Given the description of an element on the screen output the (x, y) to click on. 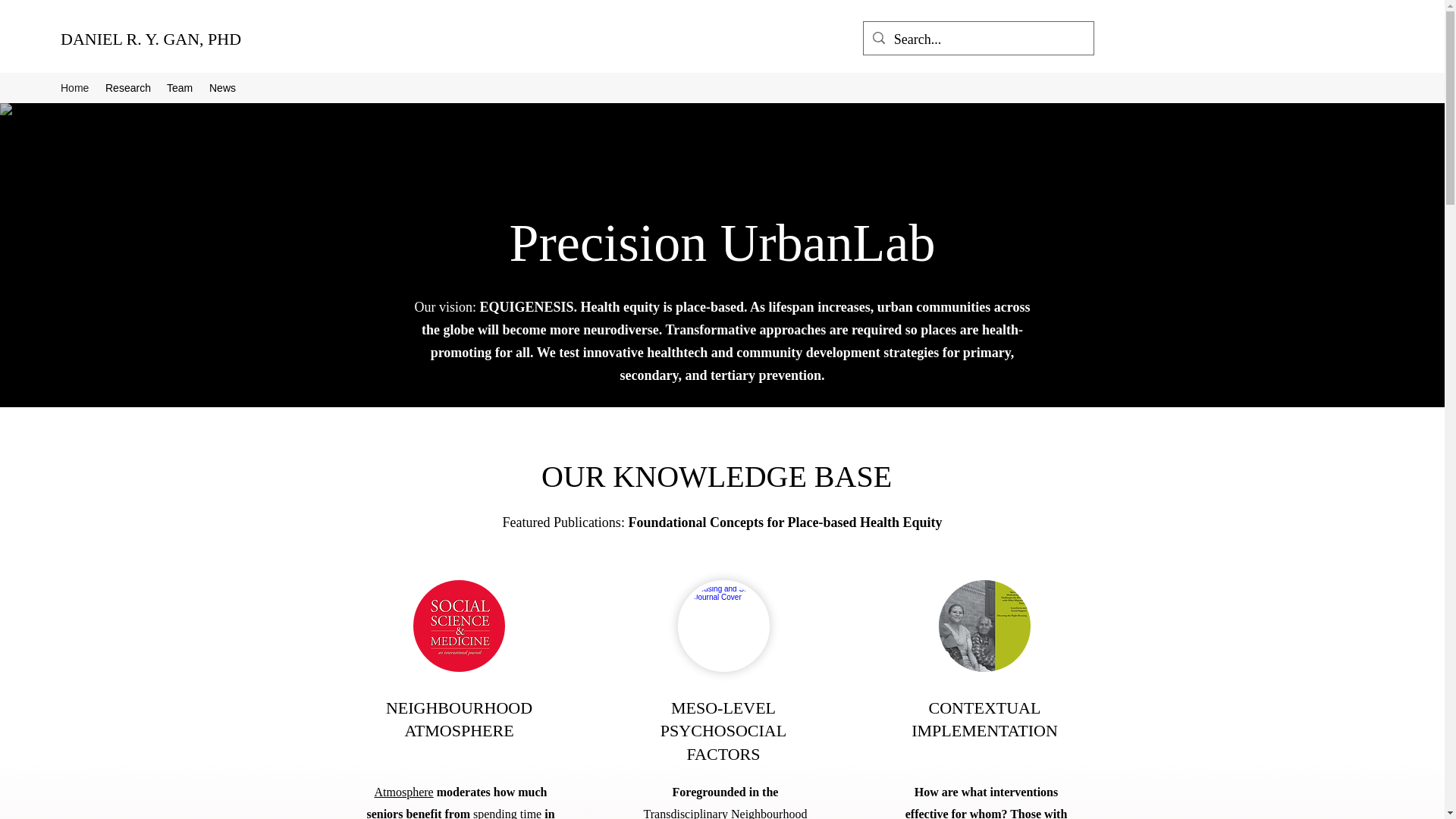
Atmosphere (403, 791)
Research (127, 87)
Transdisciplinary Neighbourhood Health Framework (725, 813)
News (223, 87)
spending time (507, 813)
Team (180, 87)
Home (74, 87)
